Given the description of an element on the screen output the (x, y) to click on. 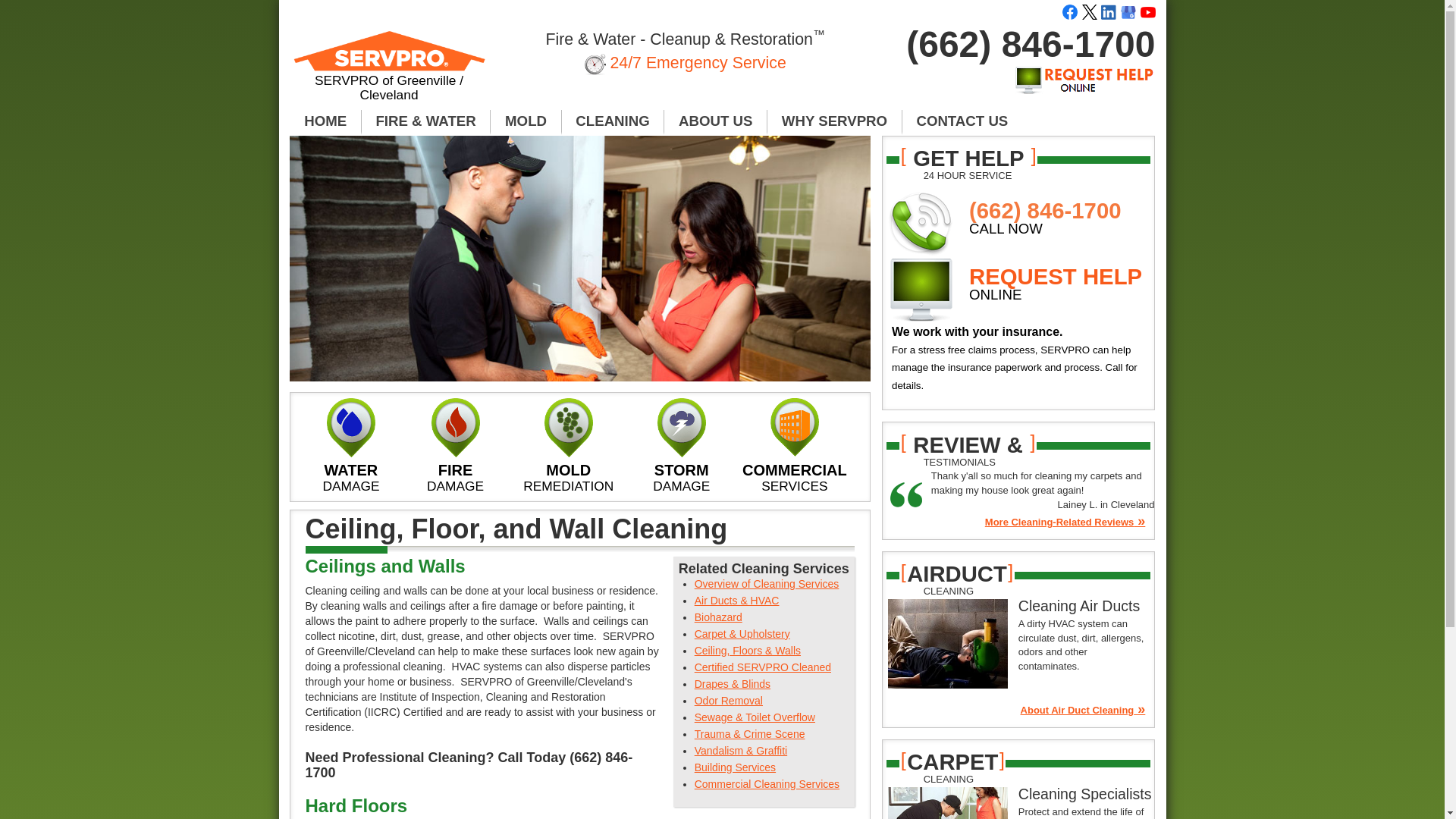
HOME (325, 121)
MOLD (525, 121)
ABOUT US (715, 121)
CLEANING (613, 121)
